Given the description of an element on the screen output the (x, y) to click on. 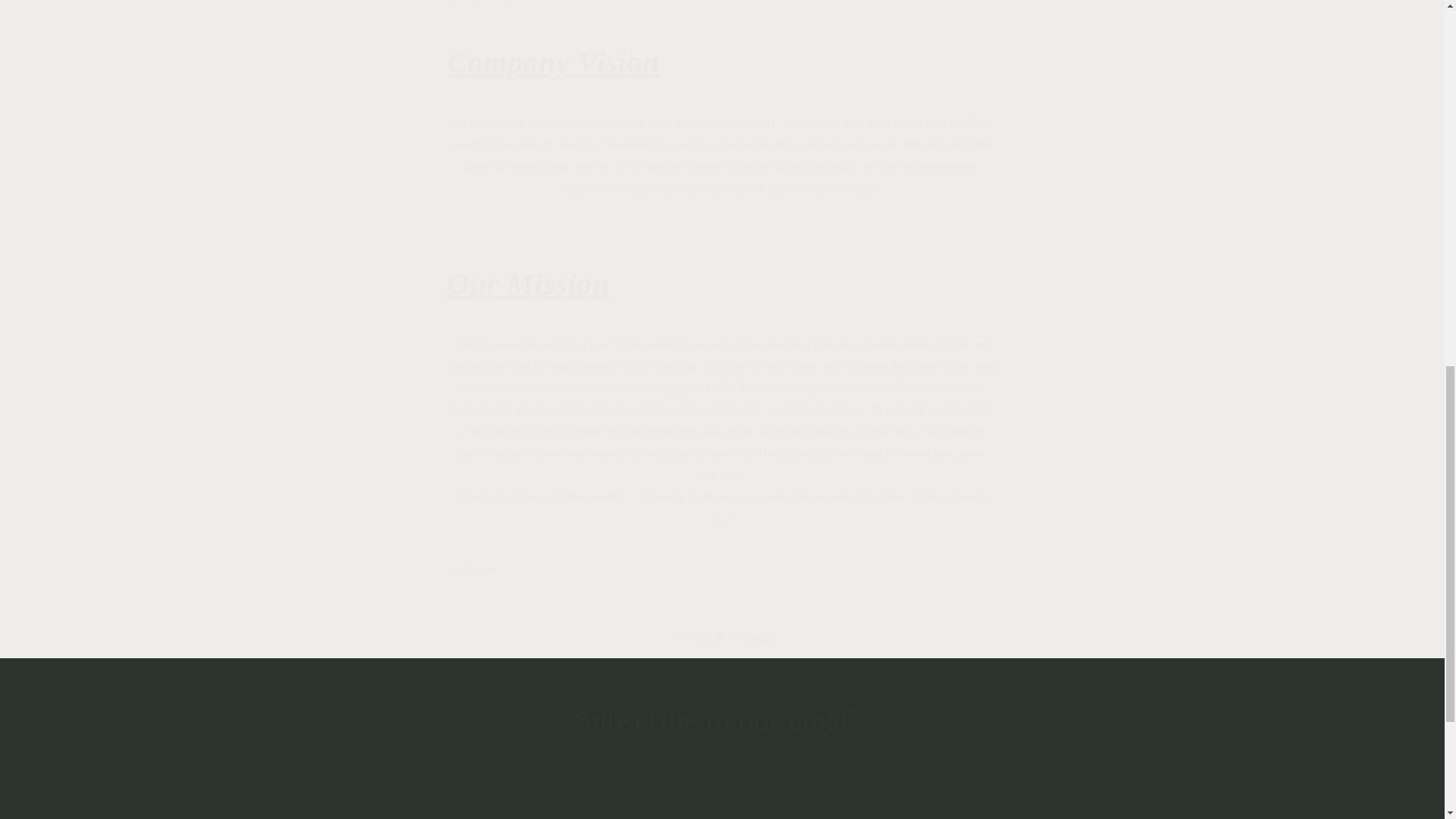
Email (722, 805)
Subscribe to our emails (721, 720)
Share (721, 570)
